Given the description of an element on the screen output the (x, y) to click on. 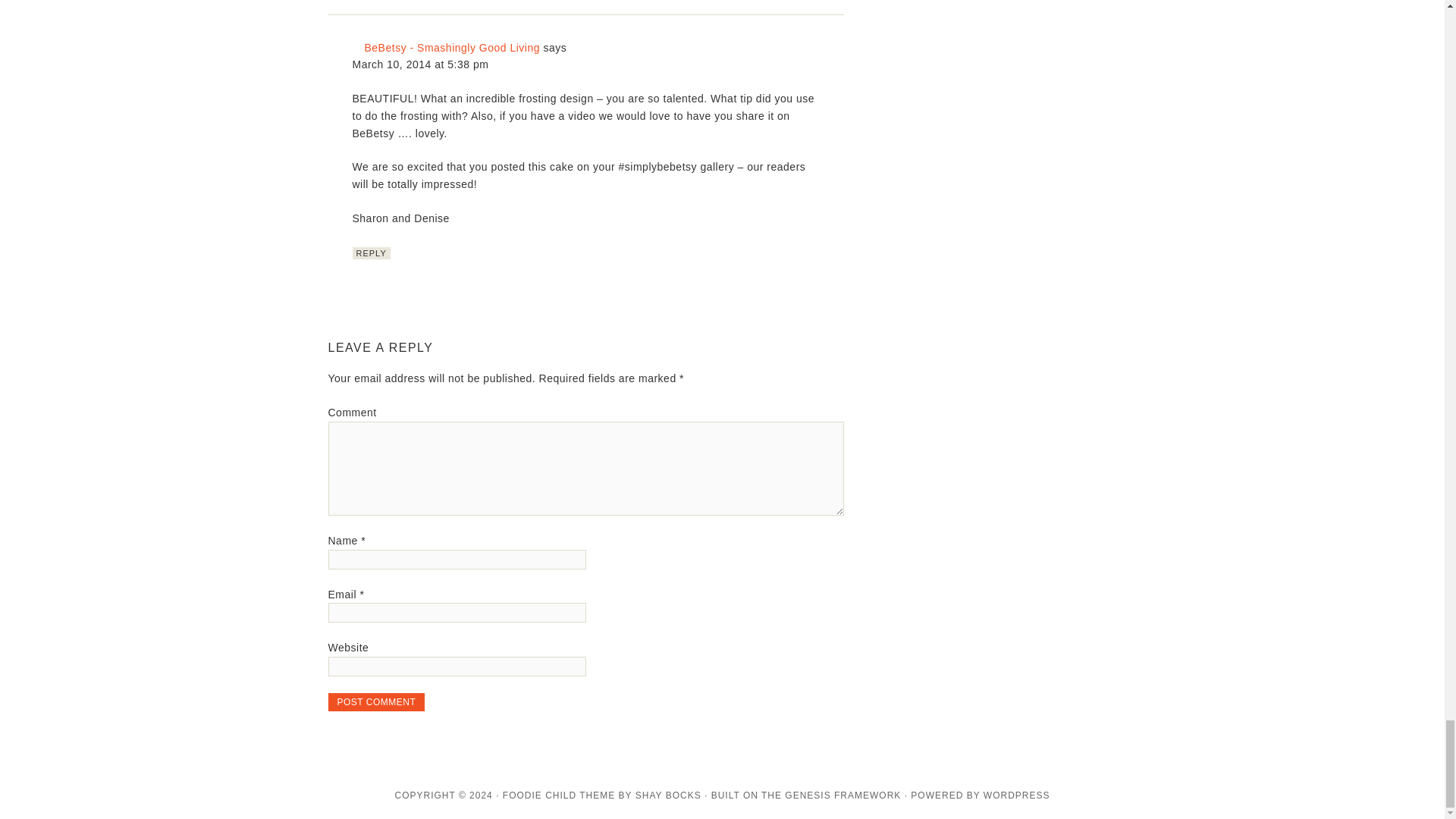
BeBetsy - Smashingly Good Living (452, 47)
Post Comment (376, 701)
Post Comment (376, 701)
March 10, 2014 at 5:38 pm (419, 64)
REPLY (371, 253)
